Given the description of an element on the screen output the (x, y) to click on. 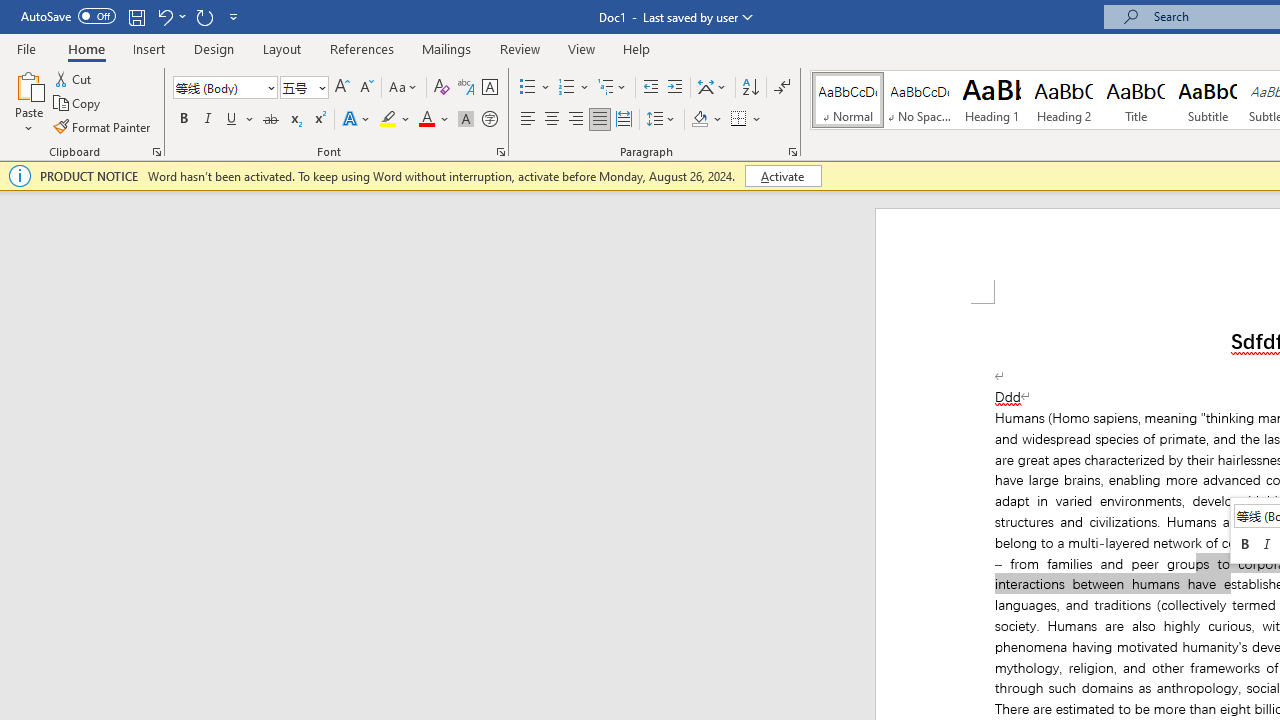
Activate (782, 175)
